Given the description of an element on the screen output the (x, y) to click on. 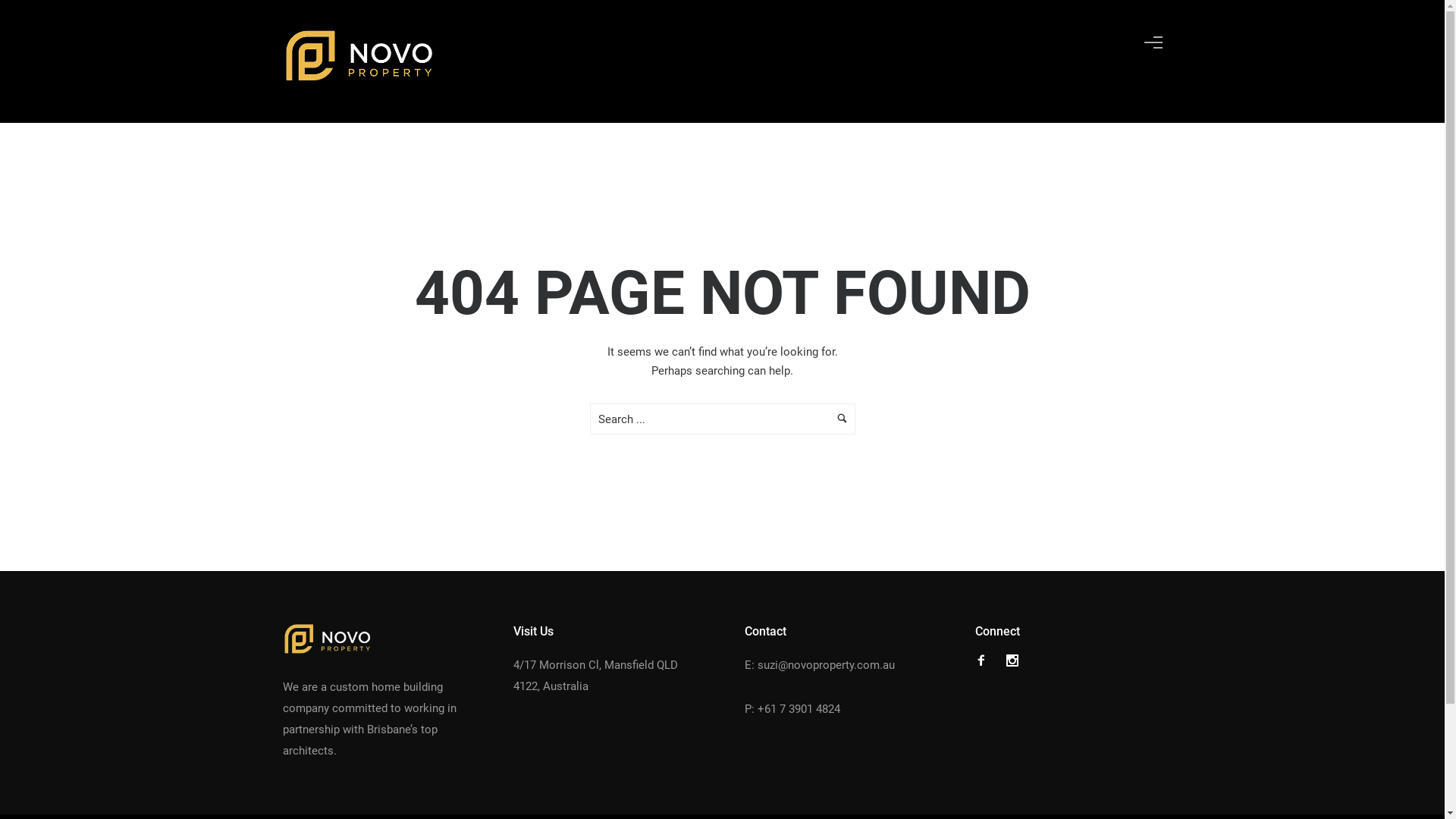
suzi@novoproperty.com.au Element type: text (825, 664)
